Given the description of an element on the screen output the (x, y) to click on. 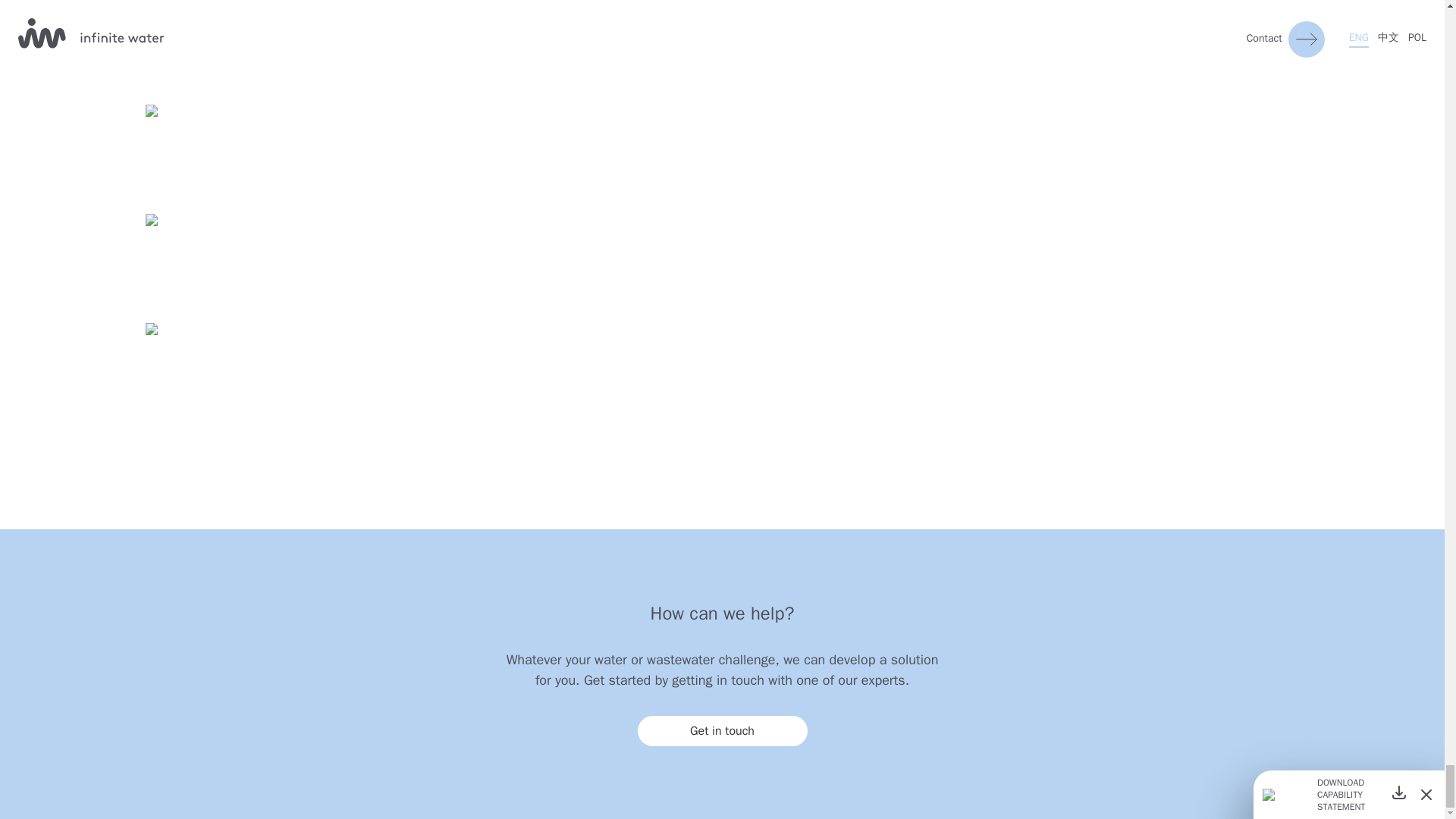
Get in touch (721, 730)
